Given the description of an element on the screen output the (x, y) to click on. 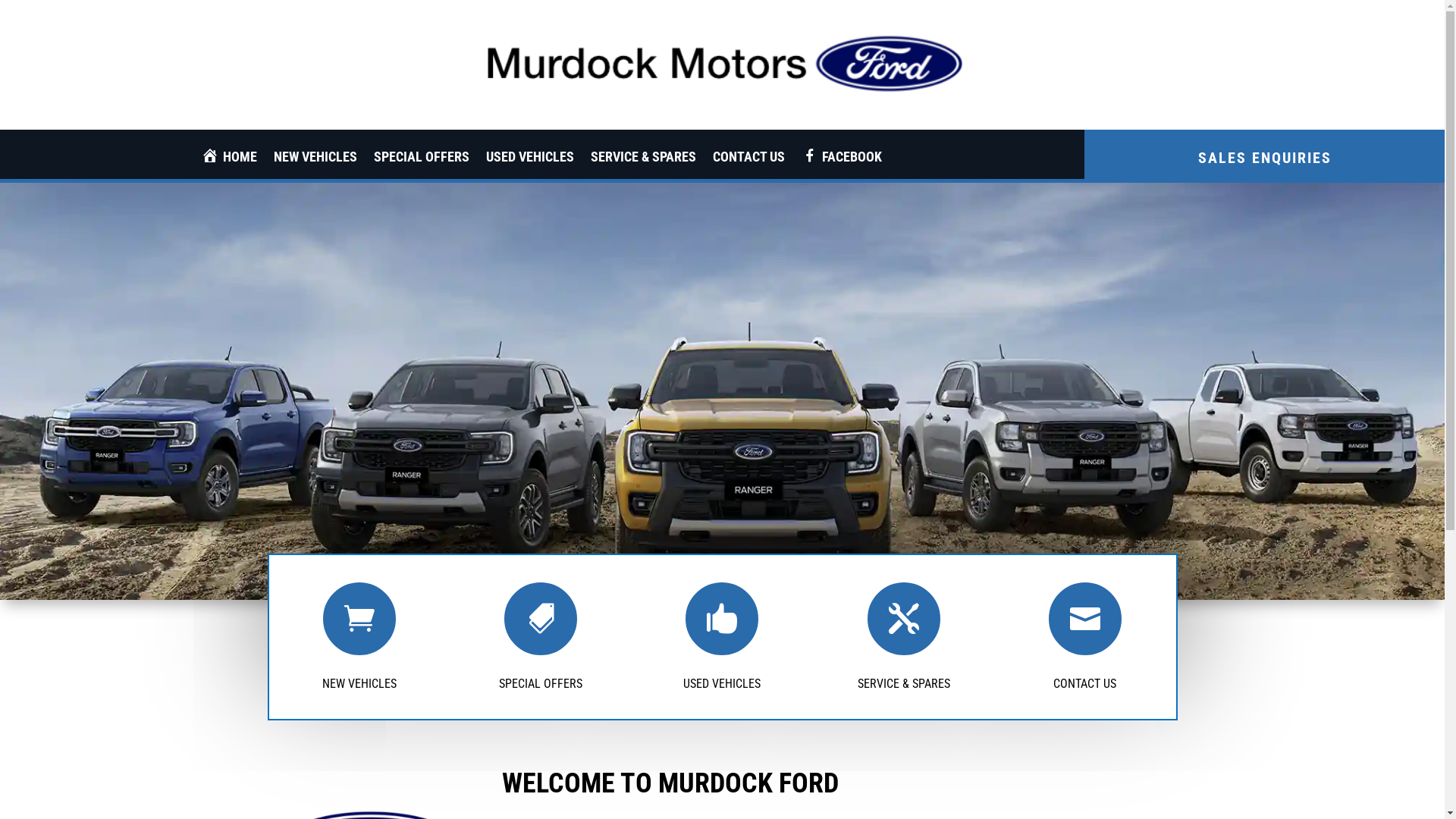
SERVICE & SPARES Element type: text (903, 683)
NEW VEHICLES Element type: text (315, 159)
SPECIAL OFFERS Element type: text (540, 683)
CONTACT US Element type: text (1084, 683)
CONTACT US Element type: text (748, 159)
NEW VEHICLES Element type: text (359, 683)
USED VEHICLES Element type: text (530, 159)
SPECIAL OFFERS Element type: text (421, 159)
SERVICE & SPARES Element type: text (643, 159)
HOME Element type: text (228, 159)
FACEBOOK Element type: text (841, 159)
SALES ENQUIRIES Element type: text (1264, 152)
USED VEHICLES Element type: text (721, 683)
murdockford_banner_logo_new22 Element type: hover (721, 56)
